Given the description of an element on the screen output the (x, y) to click on. 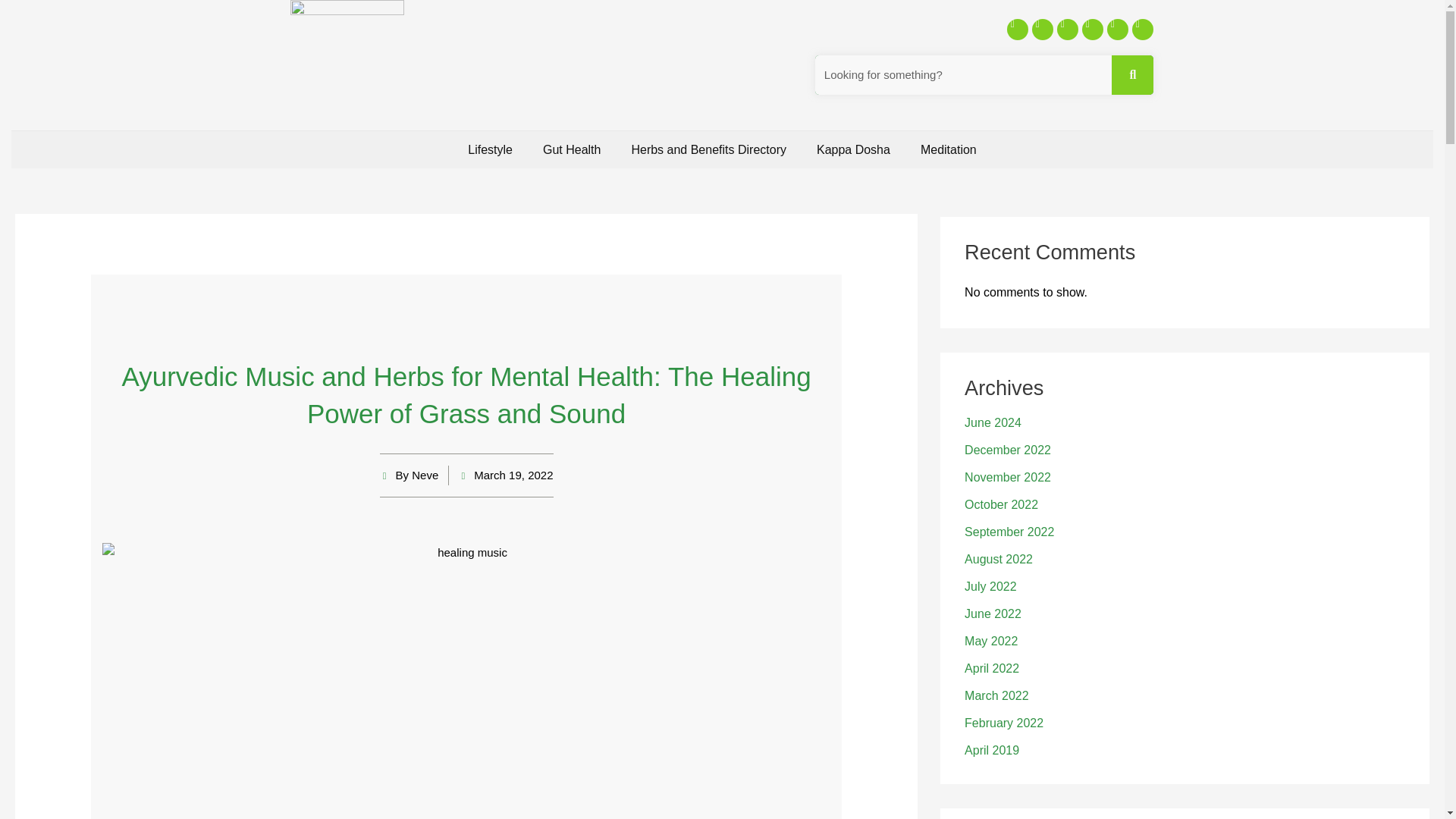
Meditation (948, 149)
Kappa Dosha (852, 149)
December 2022 (1007, 449)
Facebook (1017, 29)
Linkedin (1142, 29)
Pinterest (1117, 29)
March 19, 2022 (505, 475)
Gut Health (571, 149)
Lifestyle (489, 149)
Search (1133, 75)
Herbs and Benefits Directory (708, 149)
Instagram (1092, 29)
Twitter (1042, 29)
Youtube (1067, 29)
June 2024 (992, 422)
